Given the description of an element on the screen output the (x, y) to click on. 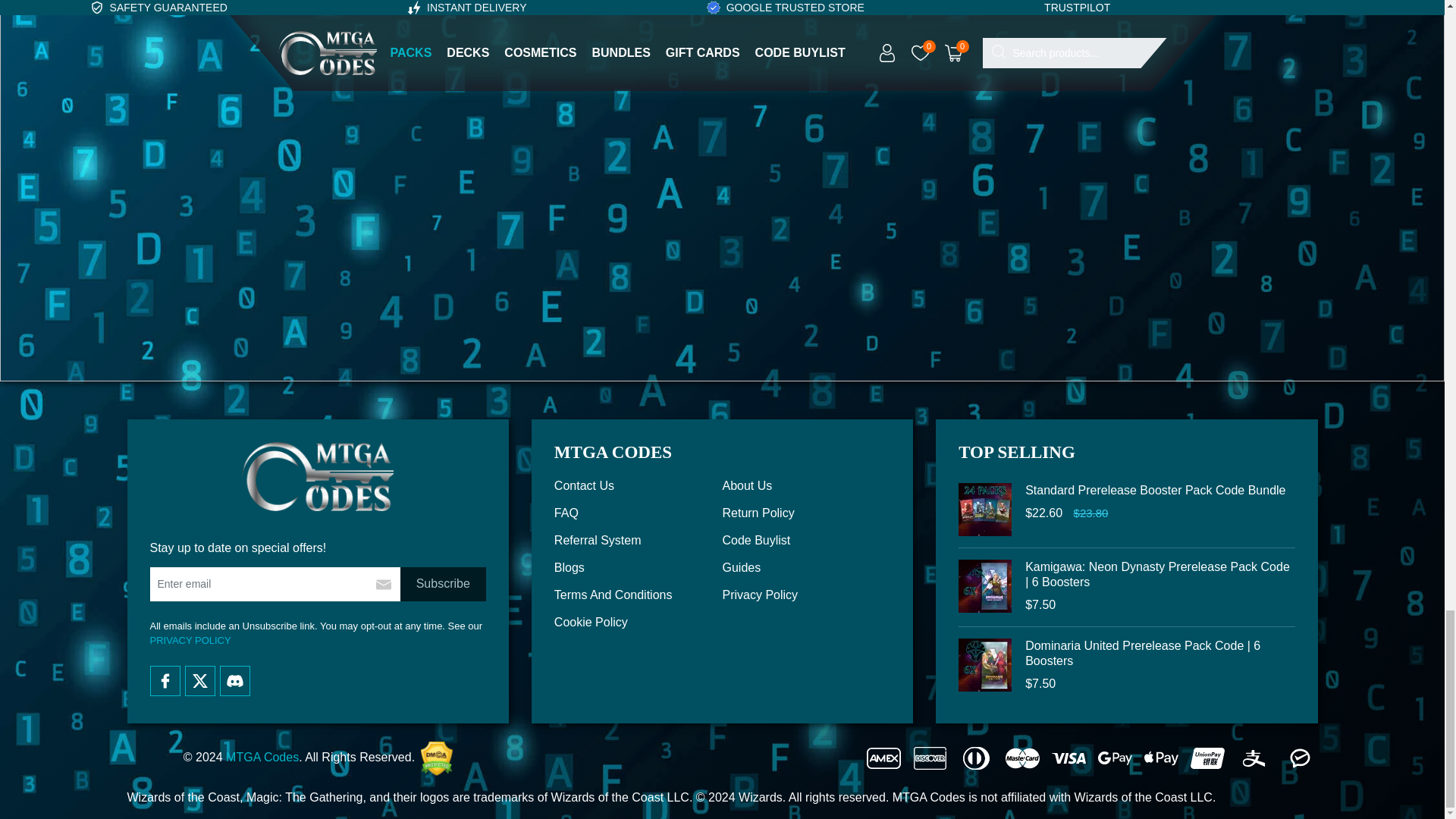
UnionPay (1207, 757)
American Express (883, 757)
Facebook (164, 680)
Mastercard (1022, 757)
GPay (1114, 757)
DMCA.com Protection Status (435, 758)
Twitter X (199, 680)
Discover (929, 757)
Diners Club (975, 757)
Wechat Pay  (1299, 757)
